Given the description of an element on the screen output the (x, y) to click on. 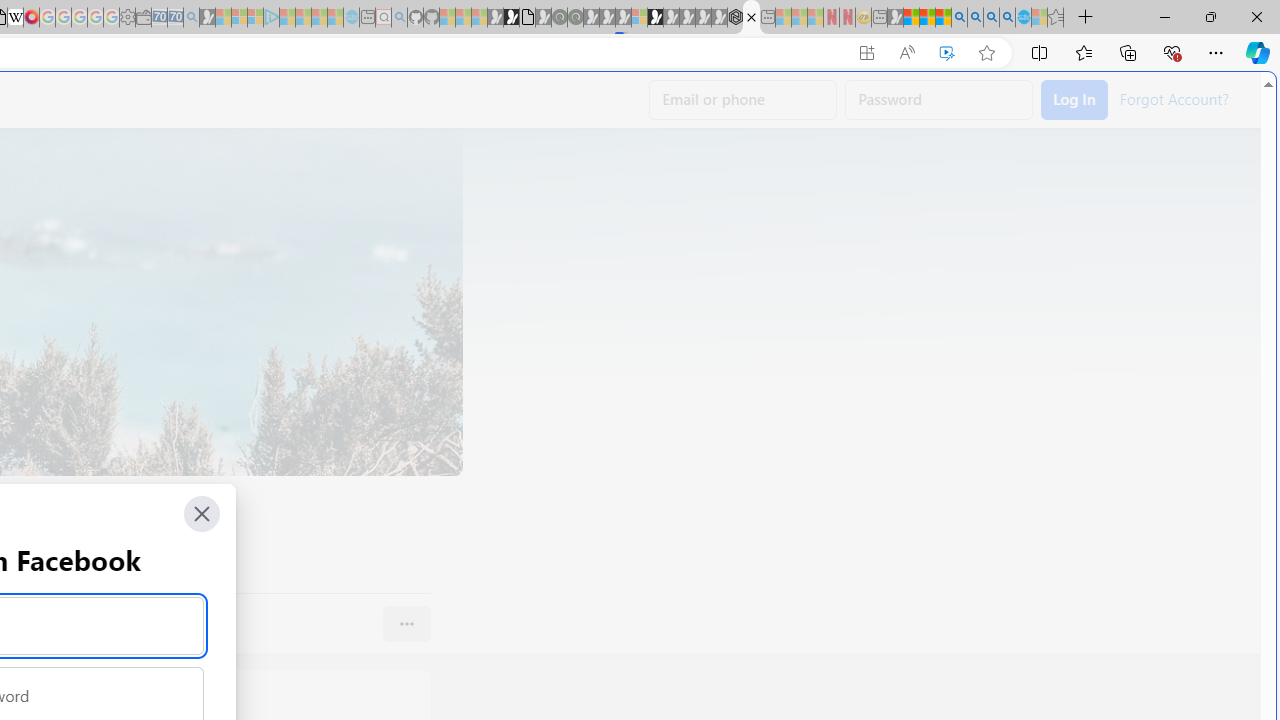
Bing AI - Search (959, 17)
Accessible login button (1074, 99)
Forgot Account? (1173, 97)
Frequently visited (418, 265)
Microsoft Start Gaming - Sleeping (207, 17)
Tabs you've opened (276, 265)
